Given the description of an element on the screen output the (x, y) to click on. 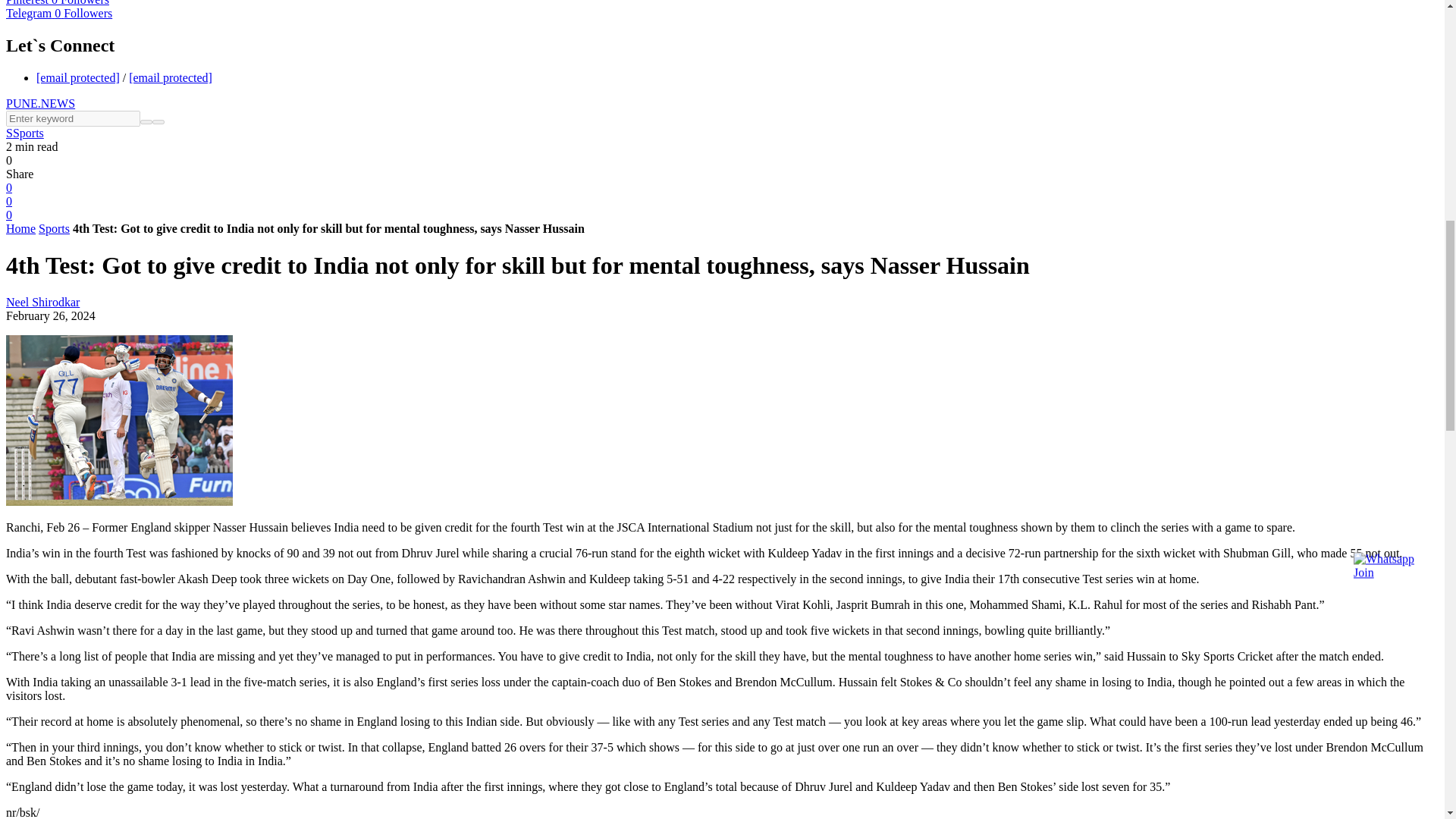
Sports (28, 132)
Telegram 0 Followers (58, 12)
Pinterest 0 Followers (57, 2)
View all posts by Neel Shirodkar (42, 301)
Home (19, 228)
PUNE.NEWS (40, 103)
Sports (54, 228)
